Given the description of an element on the screen output the (x, y) to click on. 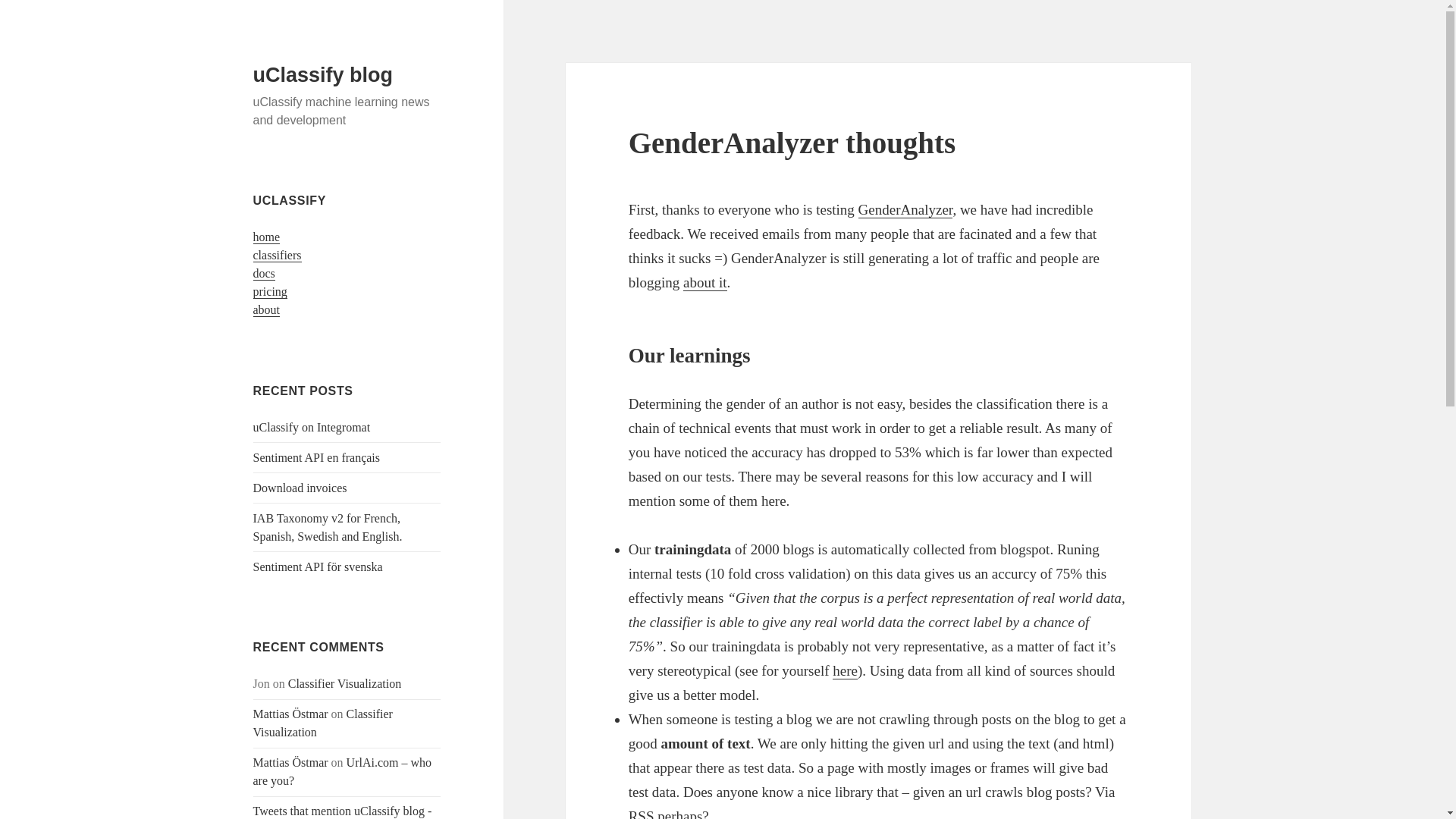
pricing (269, 291)
Download invoices (300, 487)
docs (264, 273)
Gender Analyzer blog search on Google (704, 282)
Classifier Visualization (344, 683)
Classifier Visualization (323, 722)
about (267, 309)
GenderAnalyzer (906, 209)
about it (704, 282)
IAB Taxonomy v2 for French, Spanish, Swedish and English. (328, 526)
home (267, 237)
Test Gender Analyzer on word basis (844, 670)
Gender Analyzer (906, 209)
uClassify blog (323, 74)
uClassify on Integromat (312, 427)
